Given the description of an element on the screen output the (x, y) to click on. 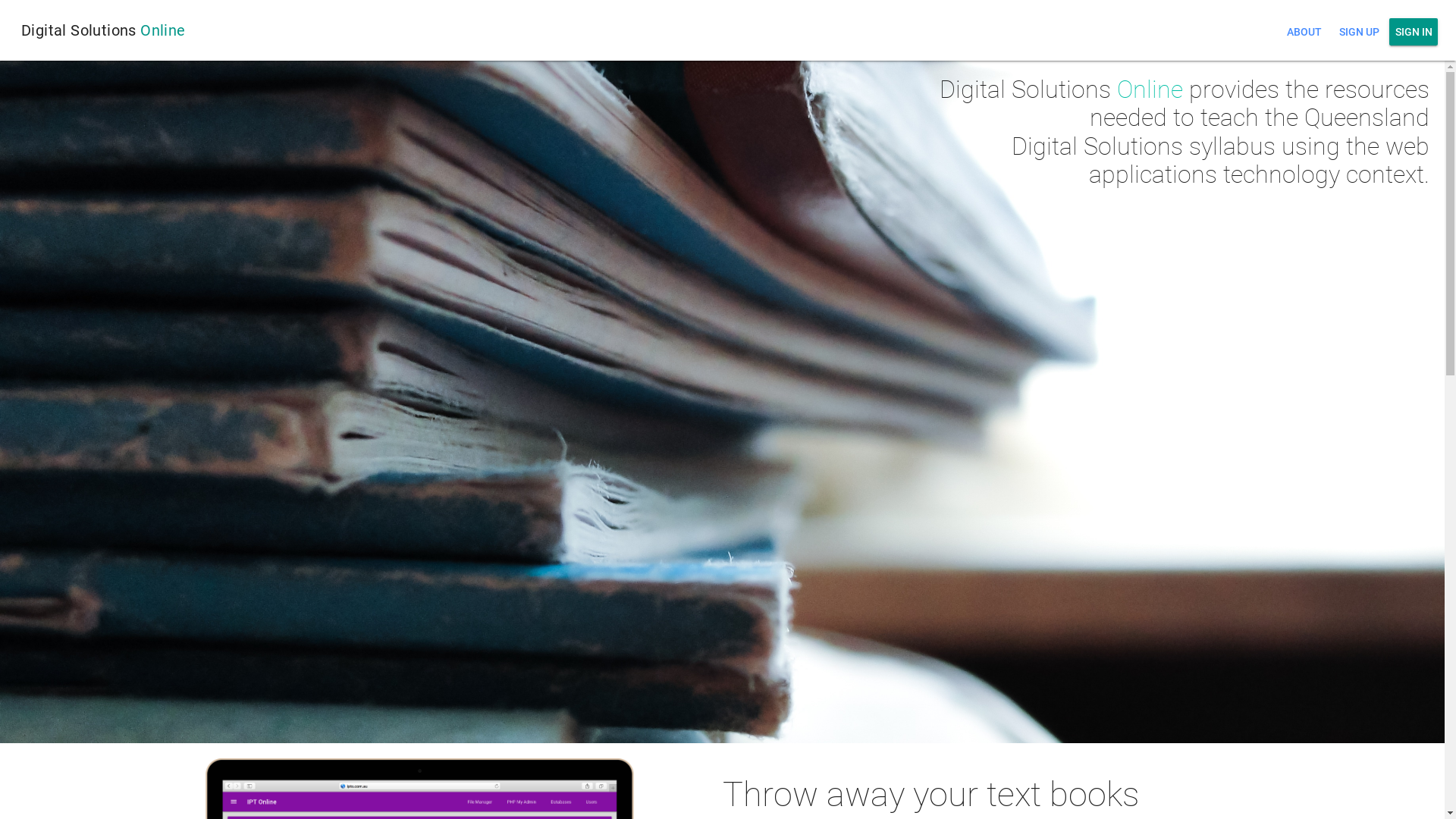
ABOUT Element type: text (1304, 31)
SIGN IN Element type: text (1413, 31)
SIGN UP Element type: text (1358, 31)
